Given the description of an element on the screen output the (x, y) to click on. 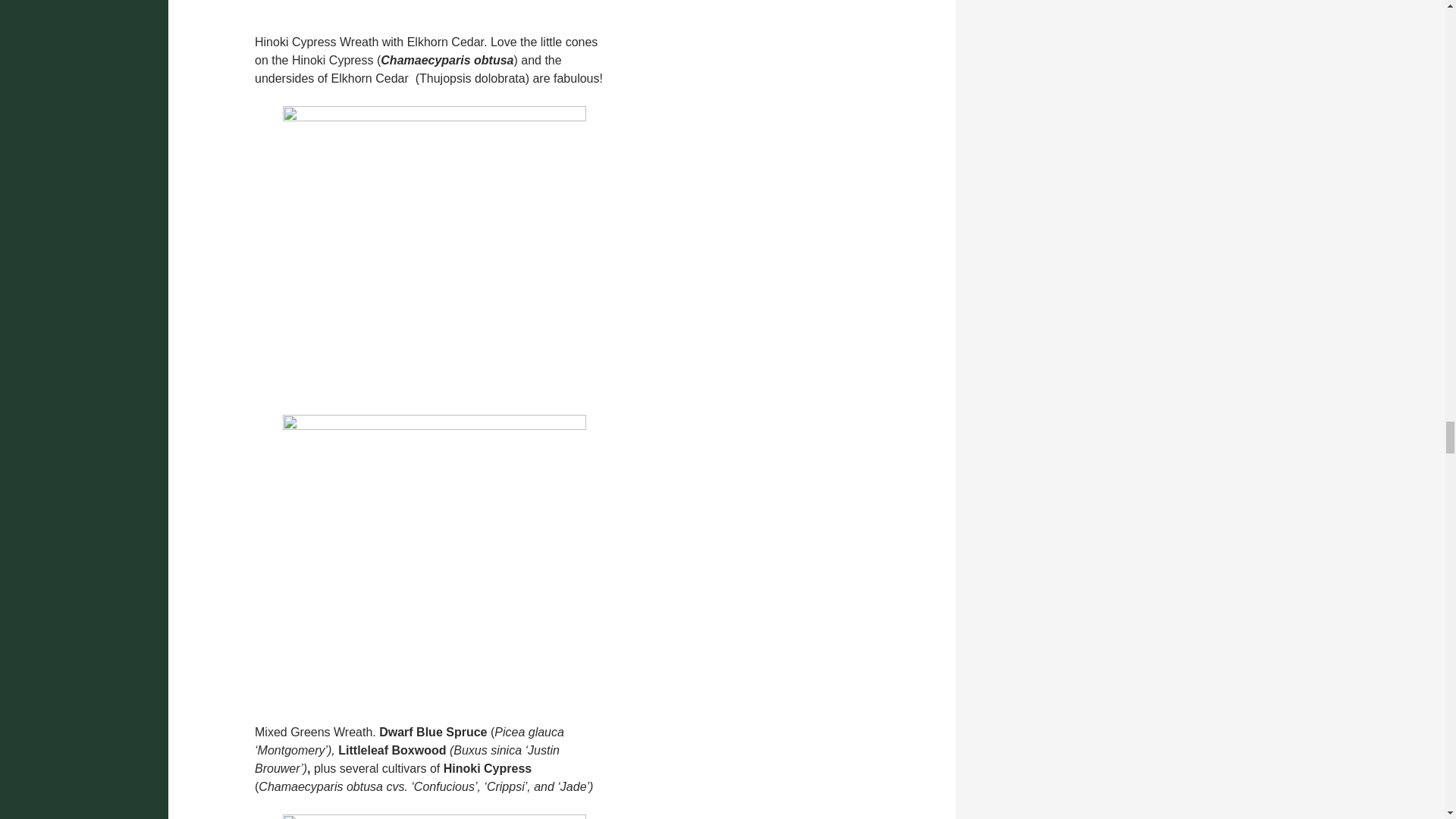
wreath2.2013.400 (434, 257)
wreath2.2013.detail.400 (434, 566)
wreath3.2013.400 (434, 816)
wreath1.2013.detail400 (434, 13)
